Given the description of an element on the screen output the (x, y) to click on. 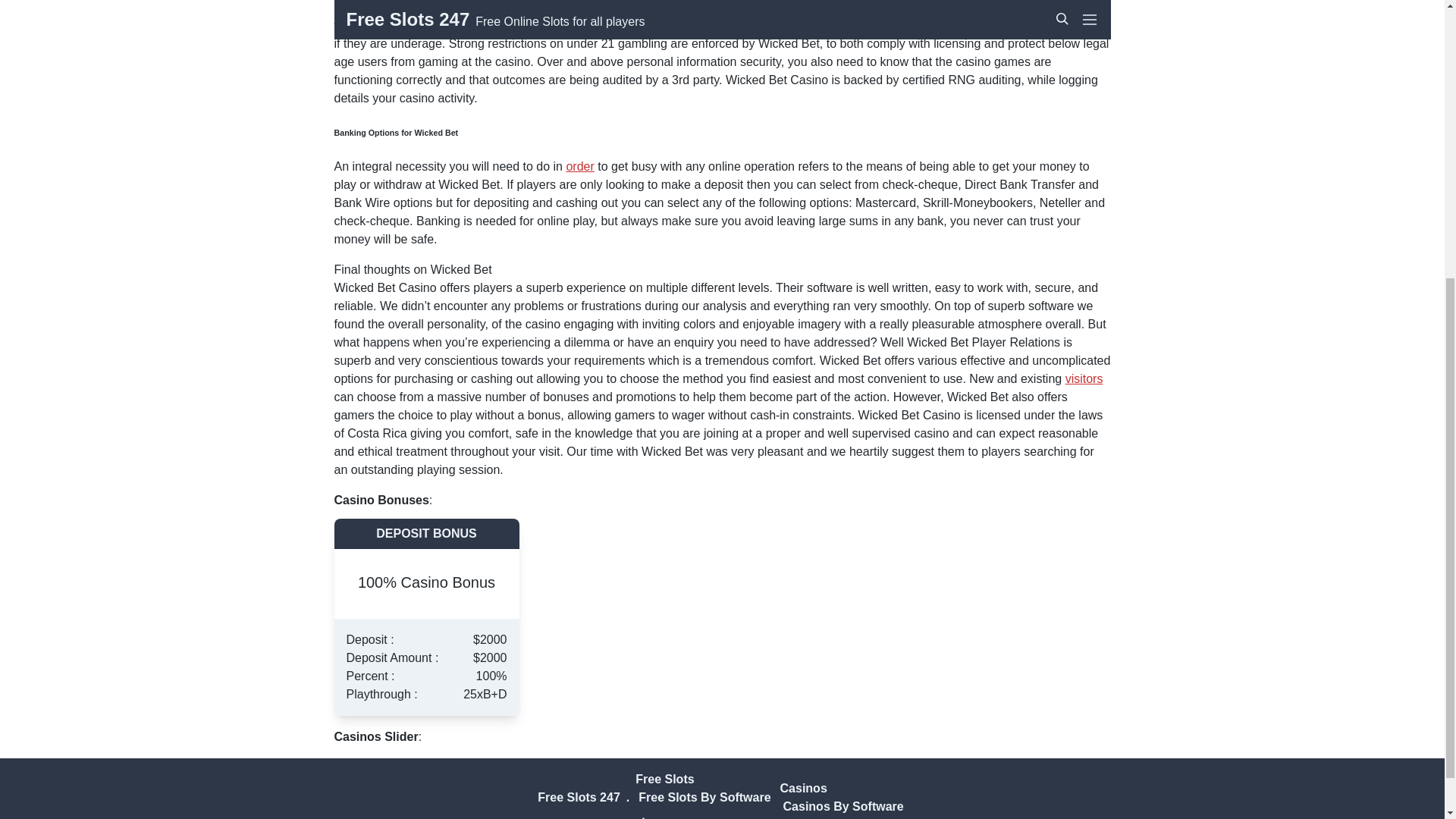
Free Slots 247 (578, 797)
Casinos (803, 788)
Casinos By Software (843, 806)
visitors (1084, 378)
Free Slots (664, 779)
order (580, 165)
Free Slots By Software (704, 797)
